Given the description of an element on the screen output the (x, y) to click on. 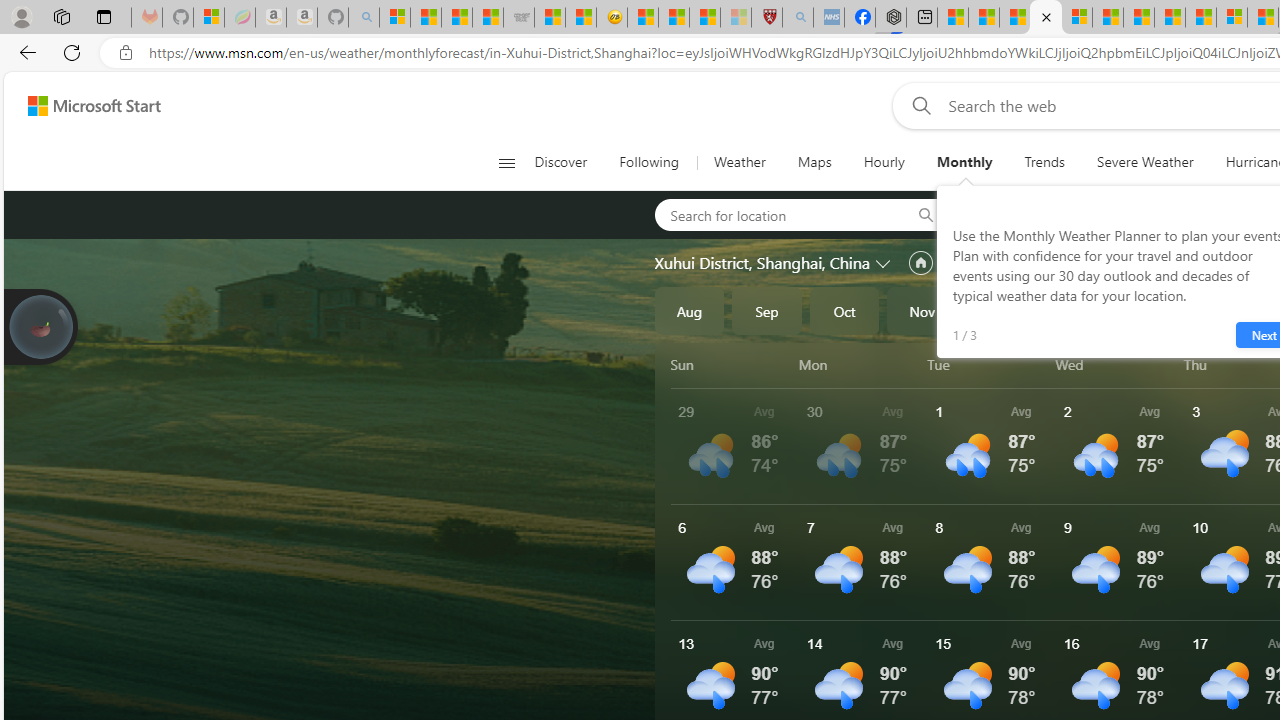
Oct (844, 310)
Following (648, 162)
Skip to content (86, 105)
Monthly (964, 162)
Trends (1044, 162)
14 Common Myths Debunked By Scientific Facts (1169, 17)
Oct (844, 310)
Science - MSN (704, 17)
